Given the description of an element on the screen output the (x, y) to click on. 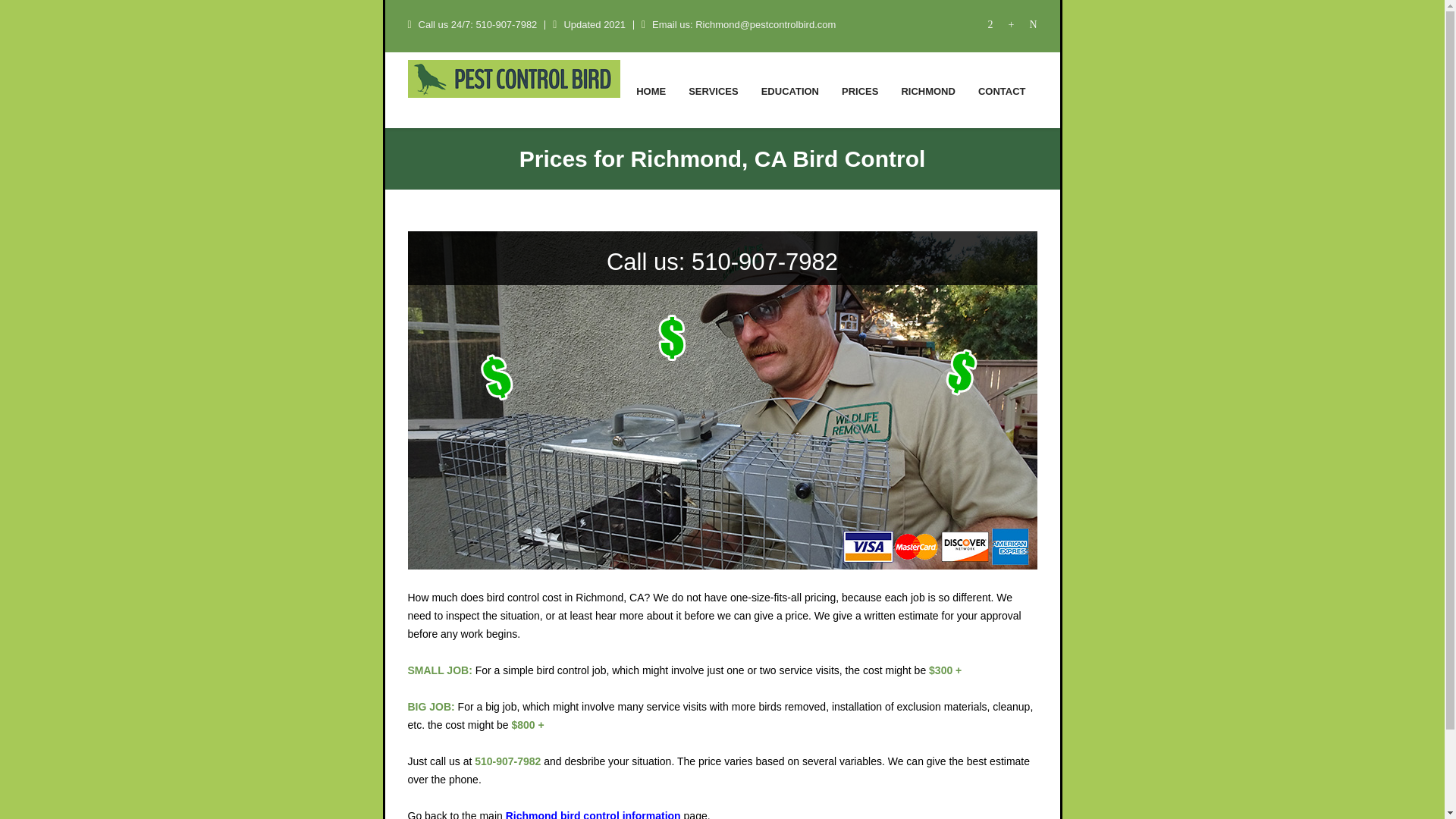
Richmond bird control information (593, 814)
PRICES (859, 89)
CONTACT (1001, 89)
HOME (650, 89)
RICHMOND (927, 89)
EDUCATION (789, 89)
SERVICES (713, 89)
